Given the description of an element on the screen output the (x, y) to click on. 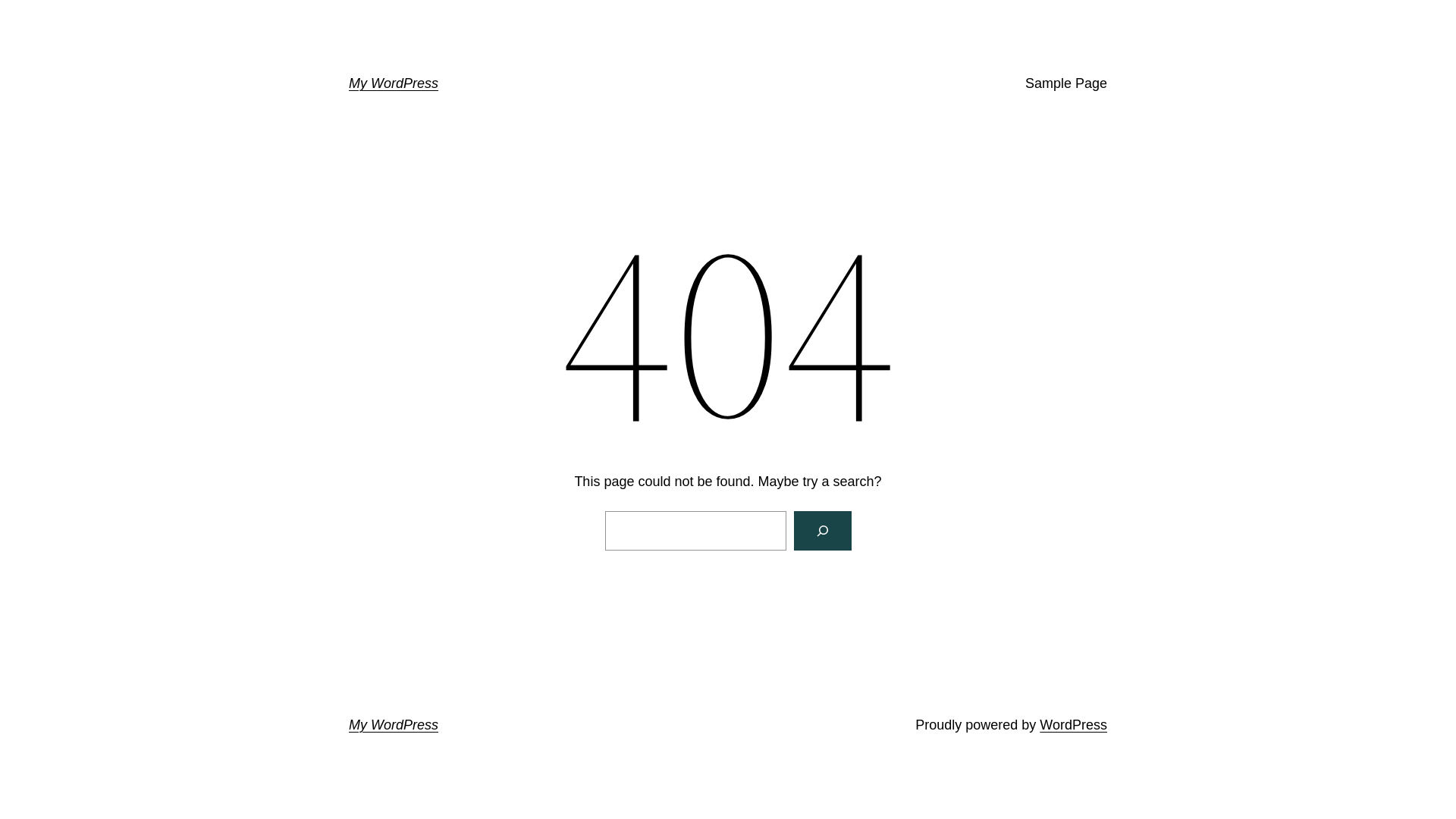
My WordPress Element type: text (393, 724)
Sample Page Element type: text (1066, 83)
My WordPress Element type: text (393, 83)
WordPress Element type: text (1073, 724)
